Given the description of an element on the screen output the (x, y) to click on. 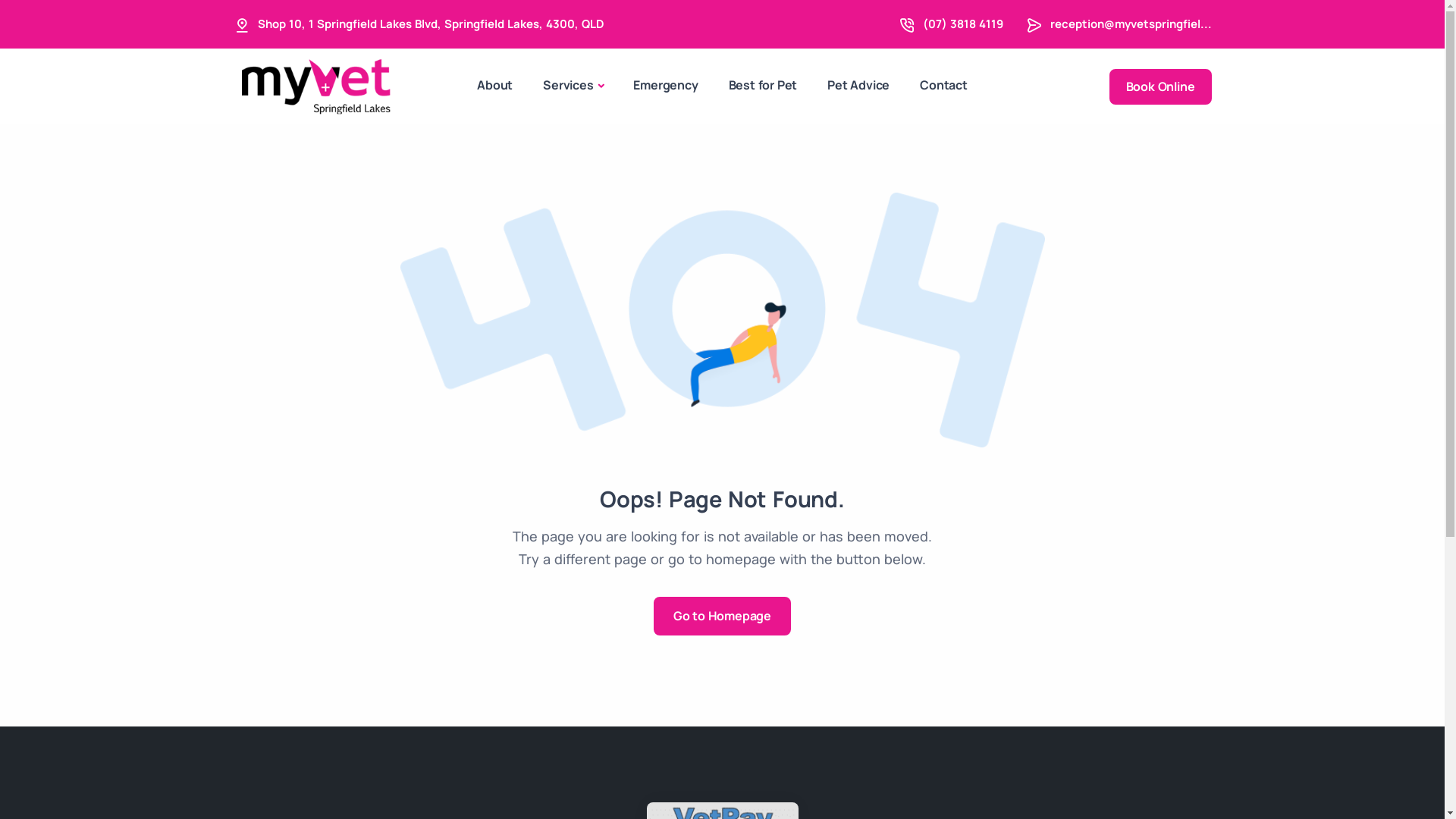
Emergency Element type: text (665, 84)
(07) 3818 4119 Element type: text (962, 23)
Contact Element type: text (943, 84)
Services Element type: text (572, 86)
reception@myvetspringfiel... Element type: text (1130, 23)
Go to Homepage Element type: text (721, 615)
Pet Advice Element type: text (858, 84)
Best for Pet Element type: text (762, 84)
Book Online Element type: text (1160, 86)
About Element type: text (494, 84)
